Given the description of an element on the screen output the (x, y) to click on. 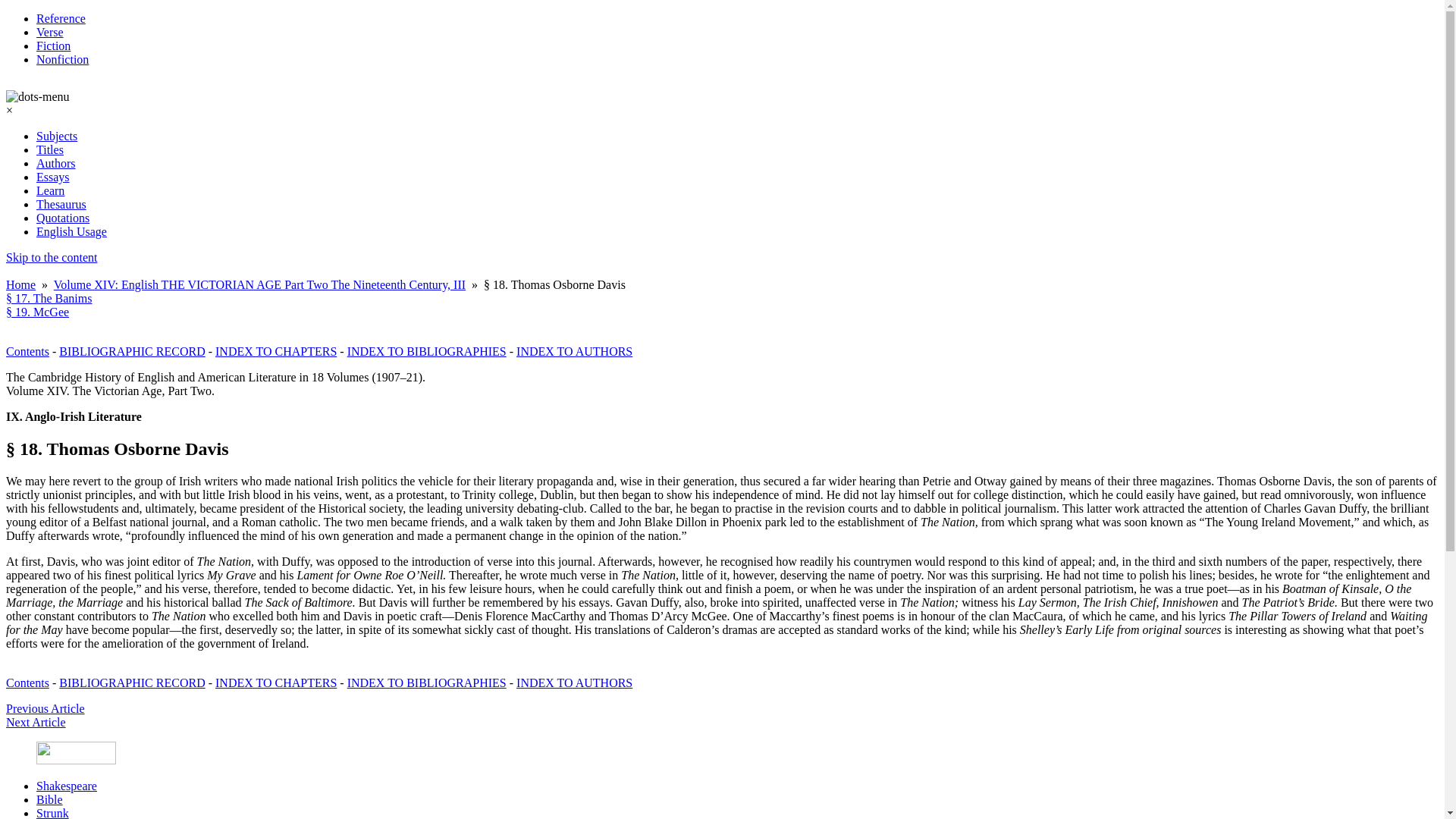
Contents (27, 682)
INDEX TO AUTHORS (573, 682)
INDEX TO BIBLIOGRAPHIES (426, 682)
Bible (49, 799)
Thesaurus (60, 204)
INDEX TO CHAPTERS (275, 682)
Essays (52, 176)
Next Article (35, 721)
INDEX TO CHAPTERS (275, 350)
